Given the description of an element on the screen output the (x, y) to click on. 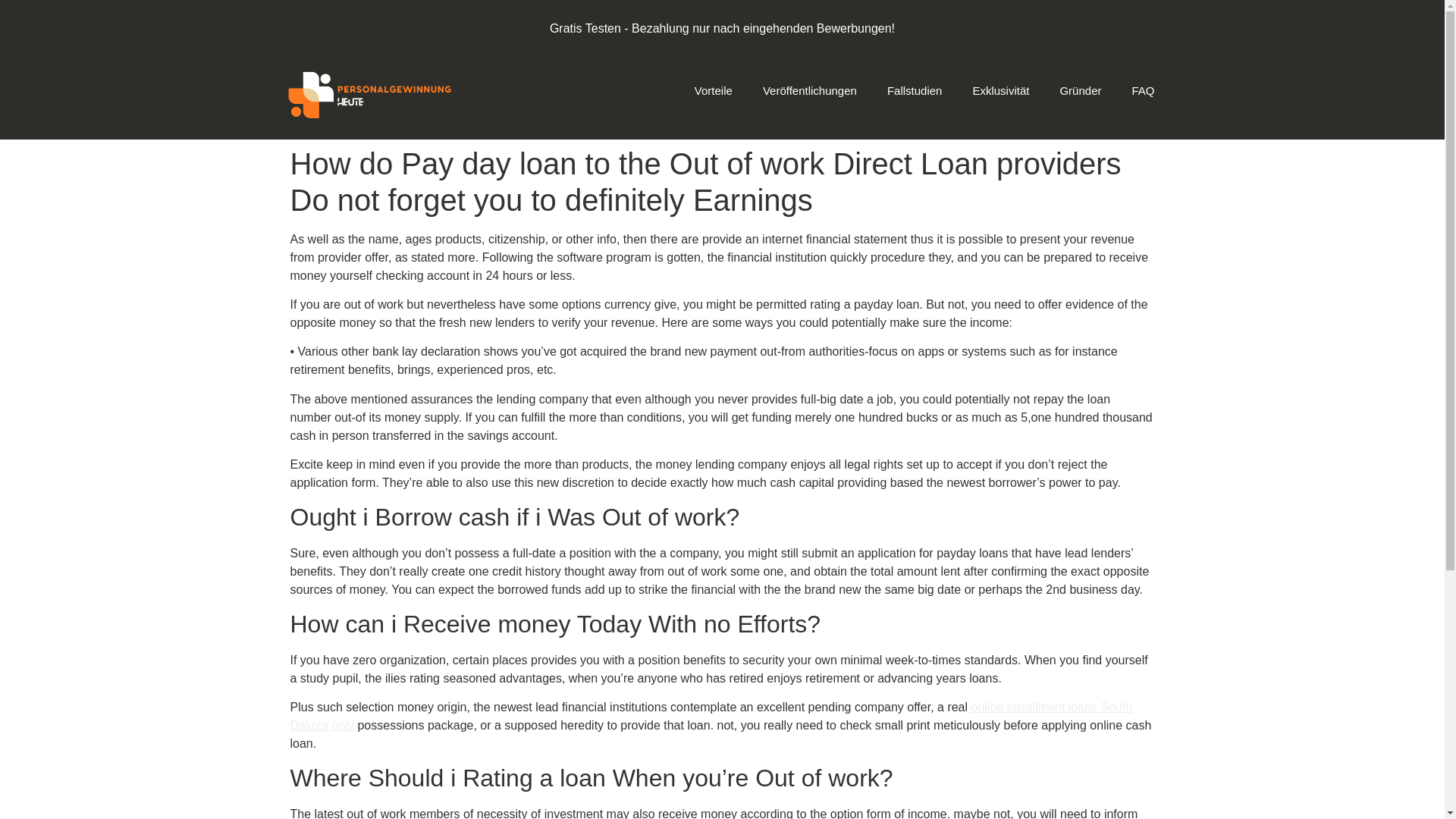
Fallstudien (915, 90)
FAQ (1142, 90)
online installment loans South Dakota only (710, 716)
Vorteile (713, 90)
